Given the description of an element on the screen output the (x, y) to click on. 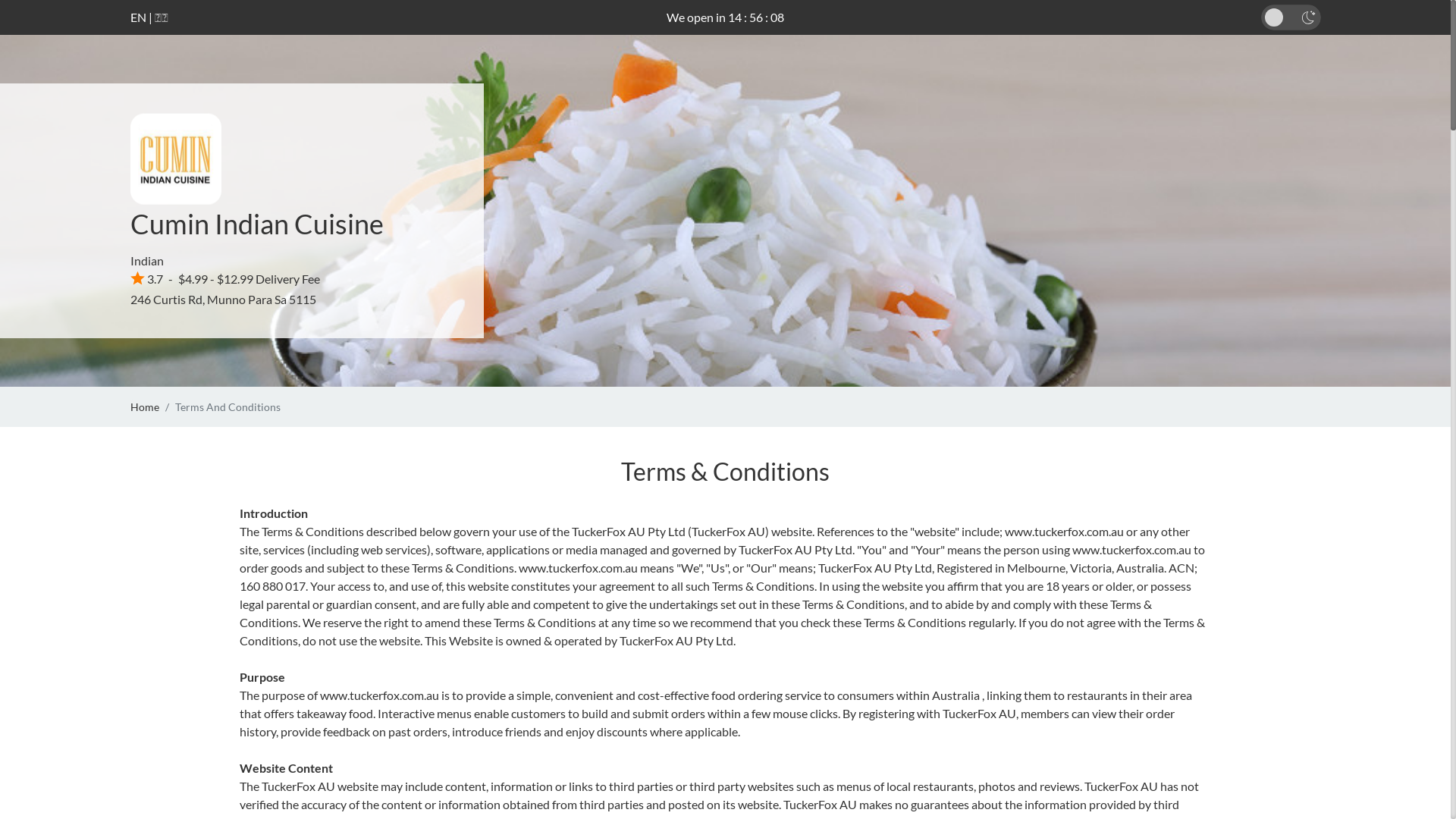
Cumin Indian Cuisine Element type: text (256, 223)
EN Element type: text (138, 16)
3.7 Element type: text (146, 278)
Home Element type: text (144, 406)
